Given the description of an element on the screen output the (x, y) to click on. 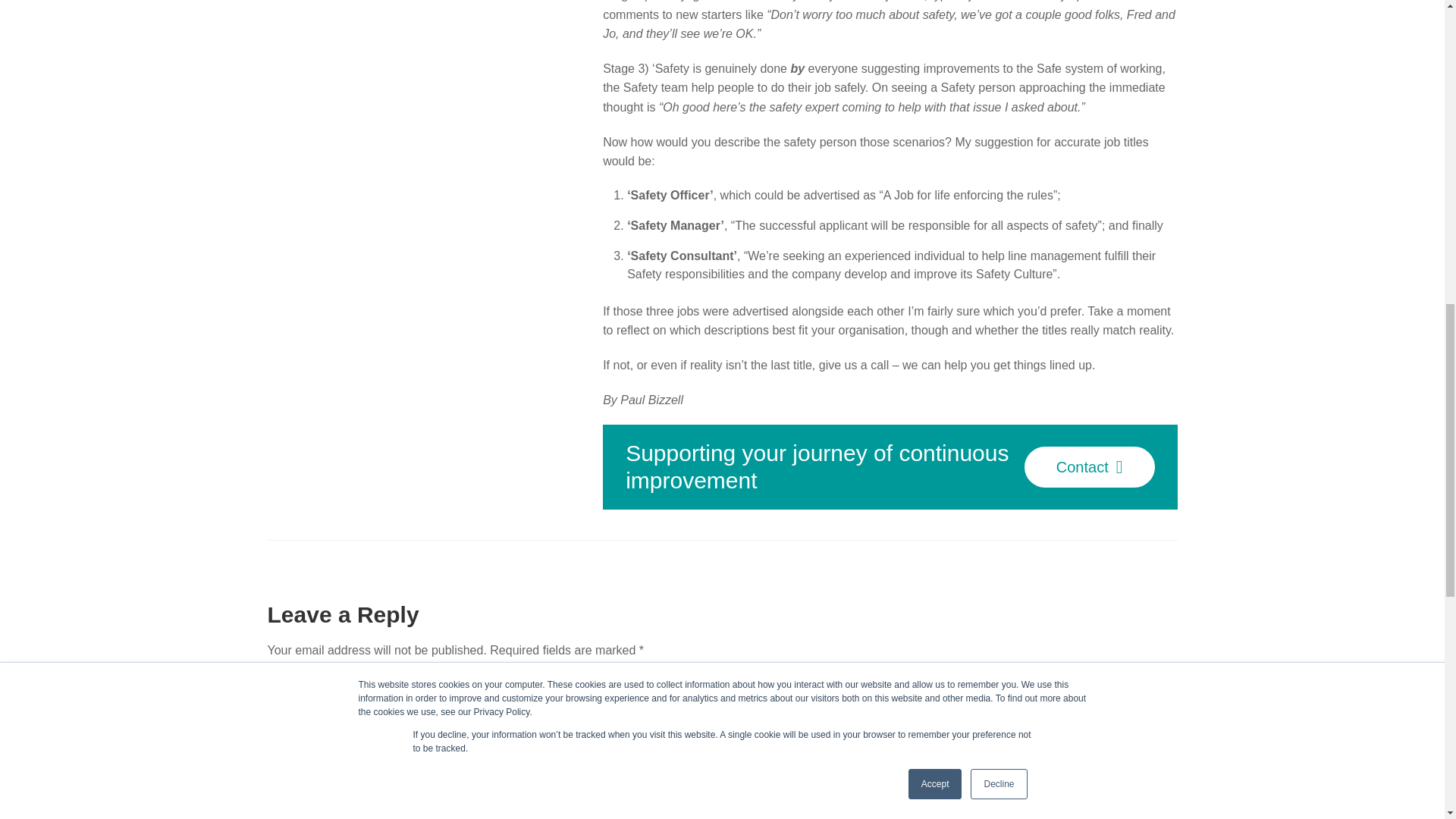
Contact (1089, 466)
